Given the description of an element on the screen output the (x, y) to click on. 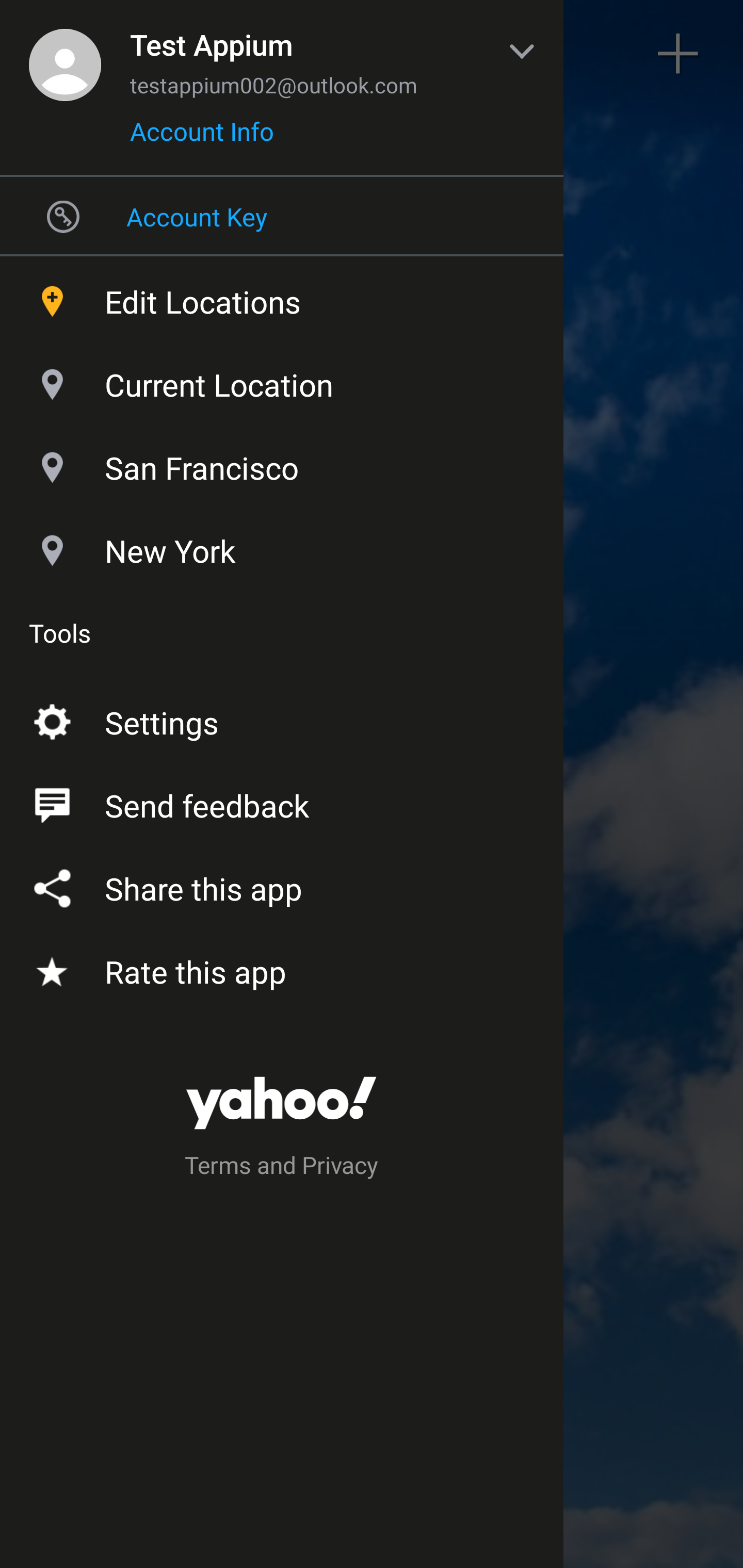
Sidebar (64, 54)
Account Info (202, 137)
Account Key (281, 216)
Edit Locations (281, 296)
Current Location (281, 379)
San Francisco (281, 462)
New York (281, 546)
Settings (281, 718)
Send feedback (281, 801)
Share this app (281, 884)
Terms and Privacy Terms and privacy button (281, 1168)
